Given the description of an element on the screen output the (x, y) to click on. 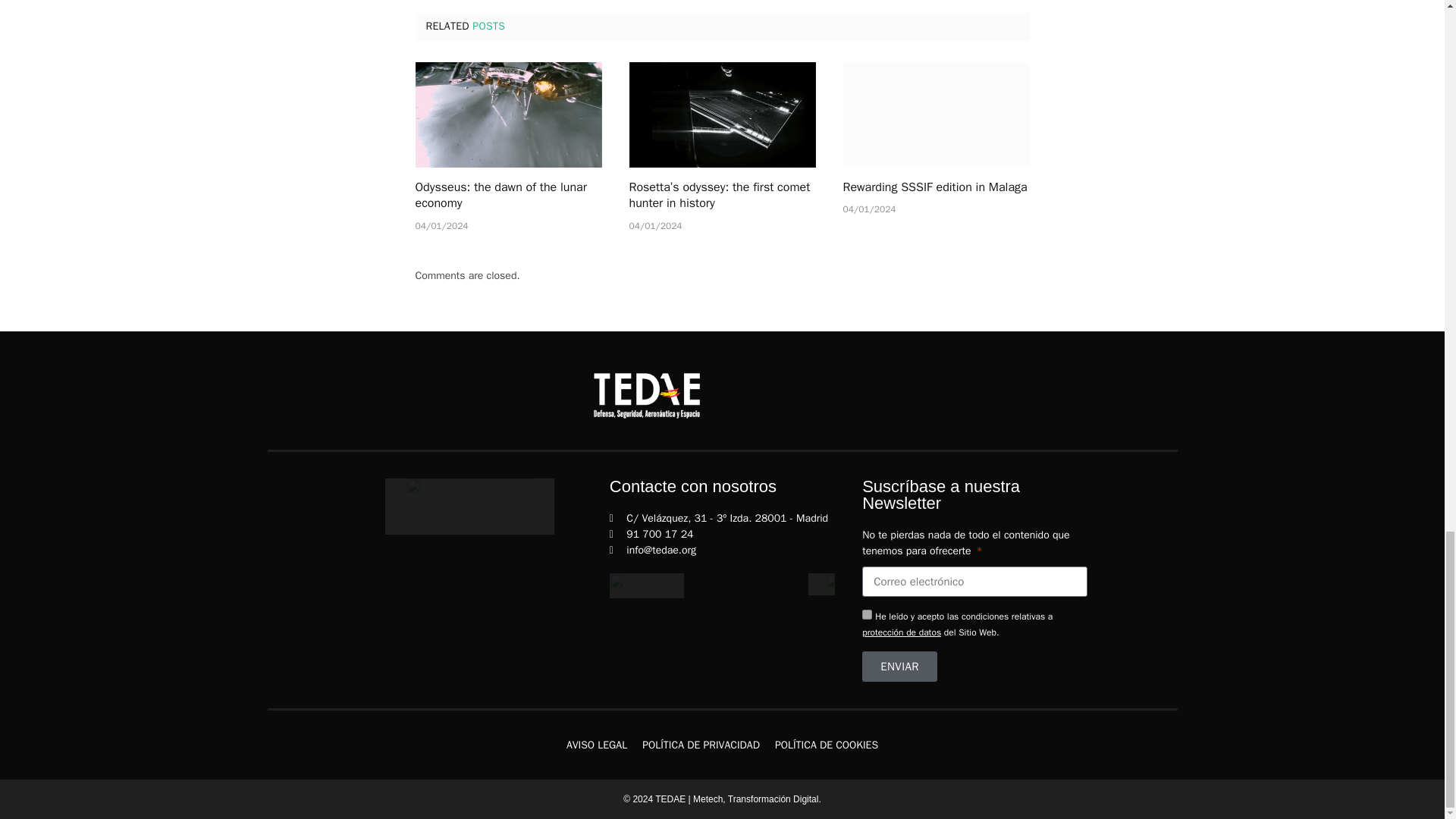
on (866, 614)
